Given the description of an element on the screen output the (x, y) to click on. 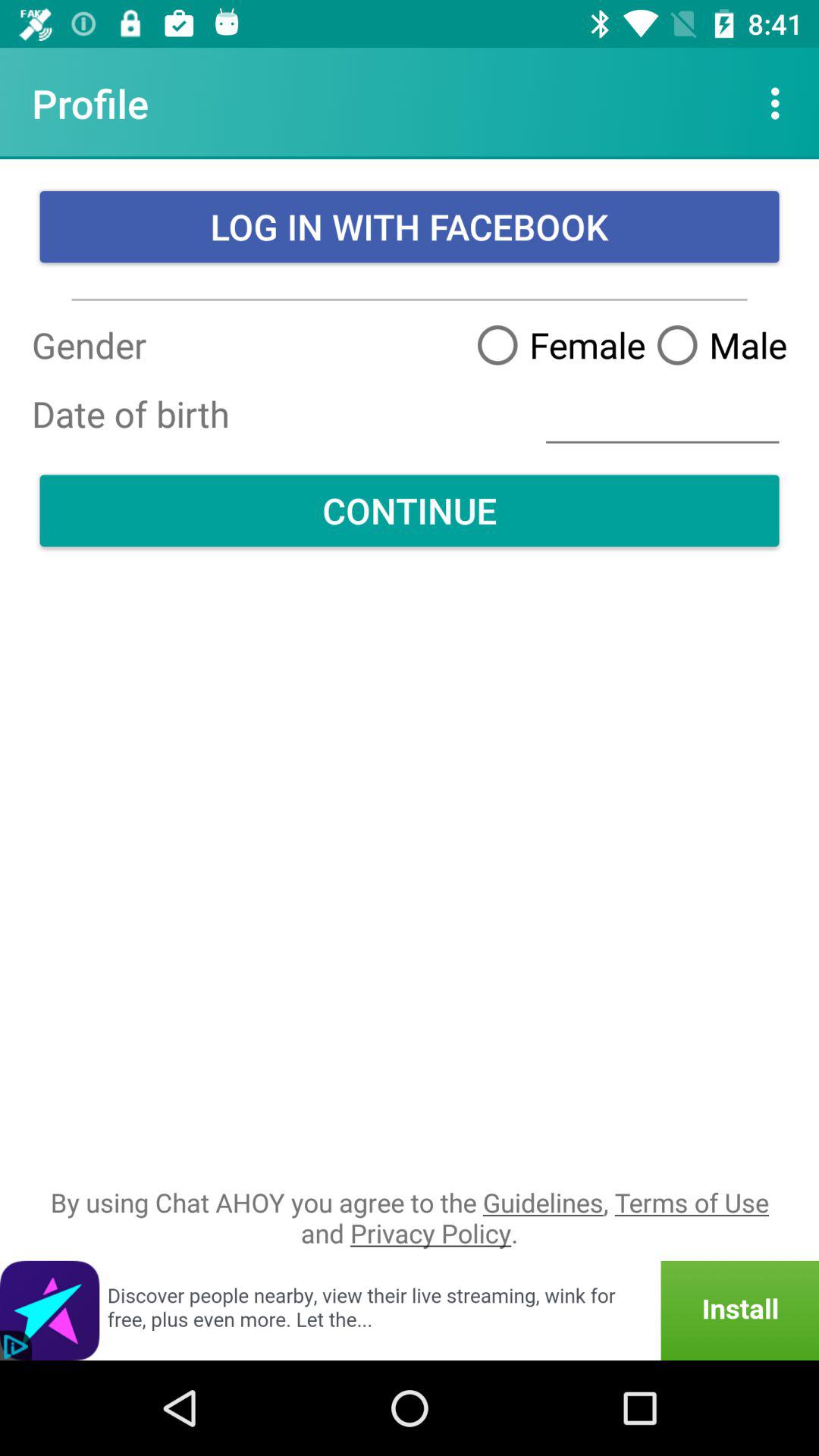
flip to the by using chat icon (409, 1217)
